Given the description of an element on the screen output the (x, y) to click on. 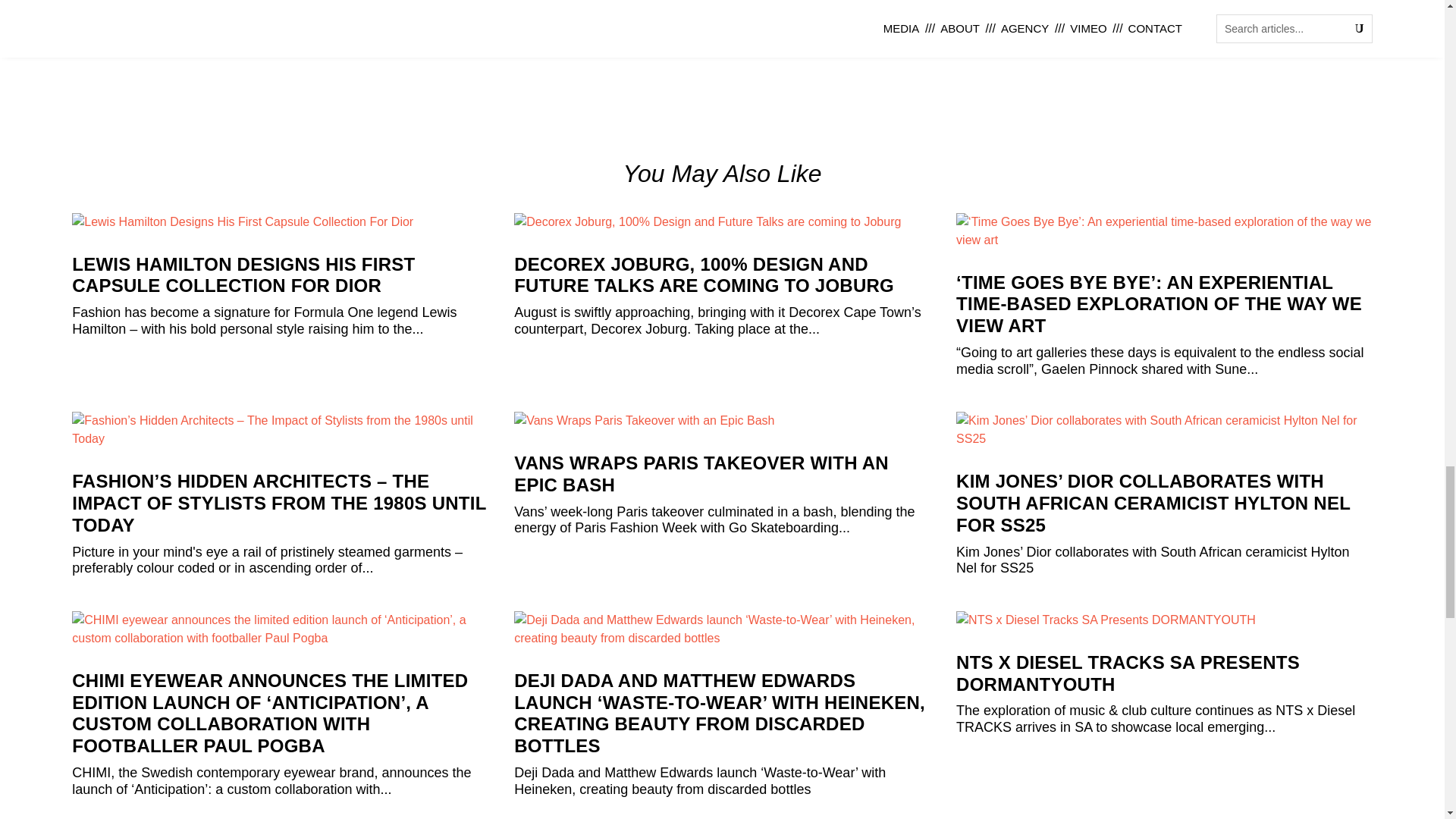
www.ceconline.co.za (645, 9)
LEWIS HAMILTON DESIGNS HIS FIRST CAPSULE COLLECTION FOR DIOR (242, 274)
VANS WRAPS PARIS TAKEOVER WITH AN EPIC BASH (700, 473)
